Given the description of an element on the screen output the (x, y) to click on. 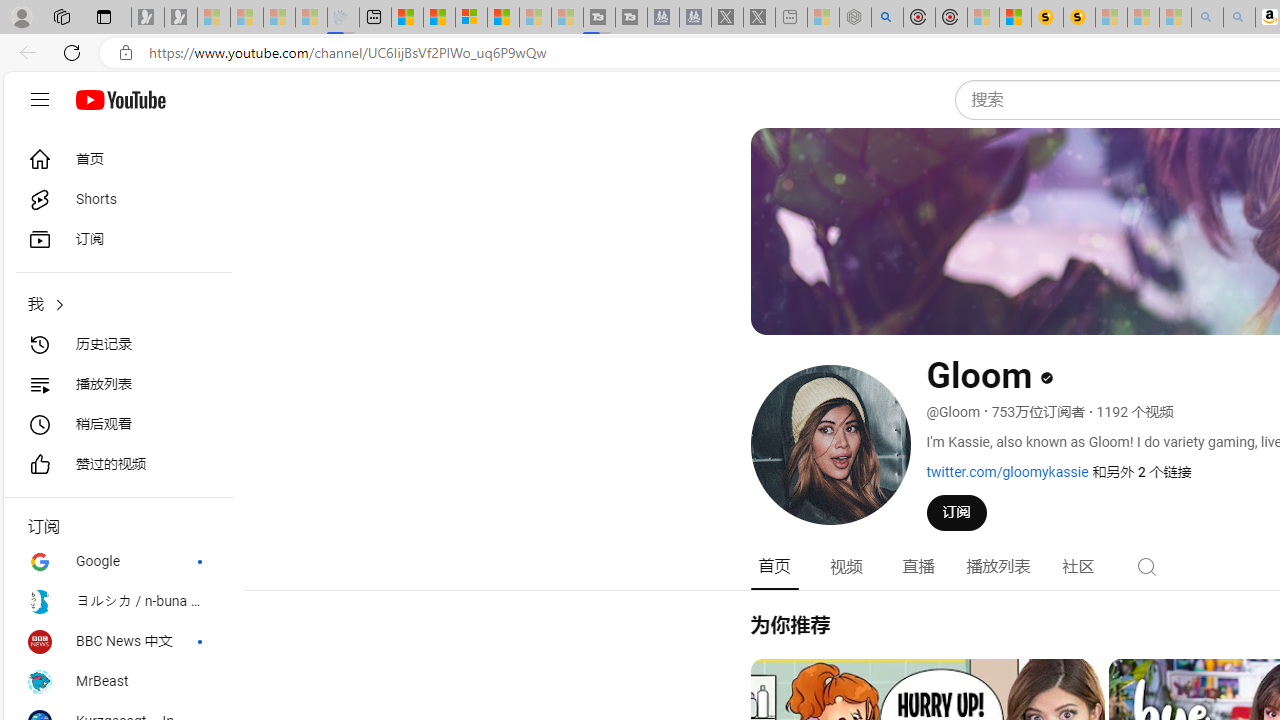
View site information (125, 53)
Wildlife - MSN - Sleeping (822, 17)
New tab - Sleeping (791, 17)
Nordace - Summer Adventures 2024 - Sleeping (855, 17)
